Given the description of an element on the screen output the (x, y) to click on. 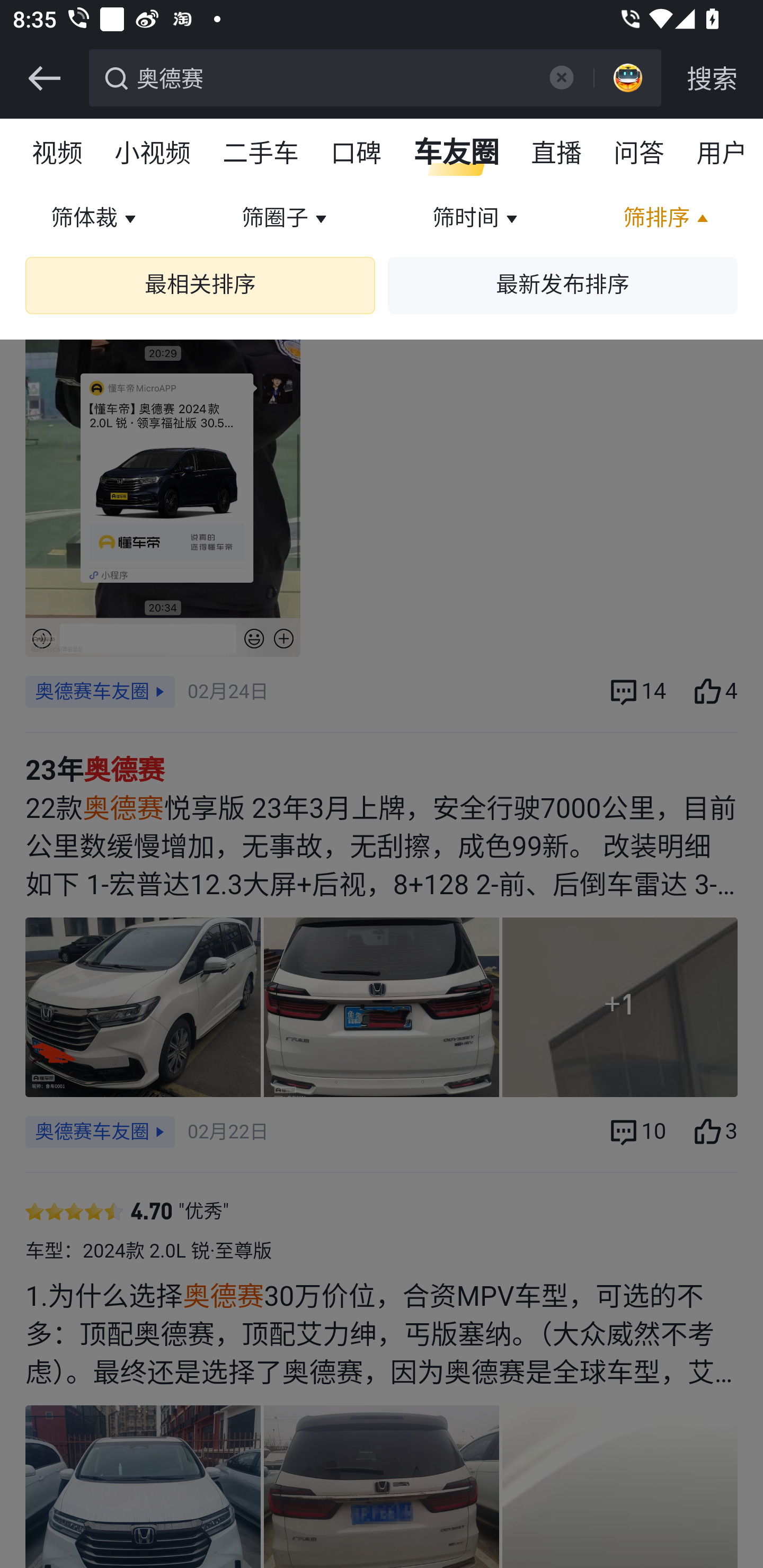
奥德赛 (331, 76)
 (560, 77)
 (44, 78)
搜索 (711, 78)
视频 (57, 154)
小视频 (153, 154)
二手车 (261, 154)
口碑 (356, 154)
车友圈 (456, 154)
直播 (556, 154)
问答 (639, 154)
用户 (721, 154)
筛体裁 (95, 219)
筛圈子 (285, 219)
筛时间 (476, 219)
筛排序 (667, 219)
